Given the description of an element on the screen output the (x, y) to click on. 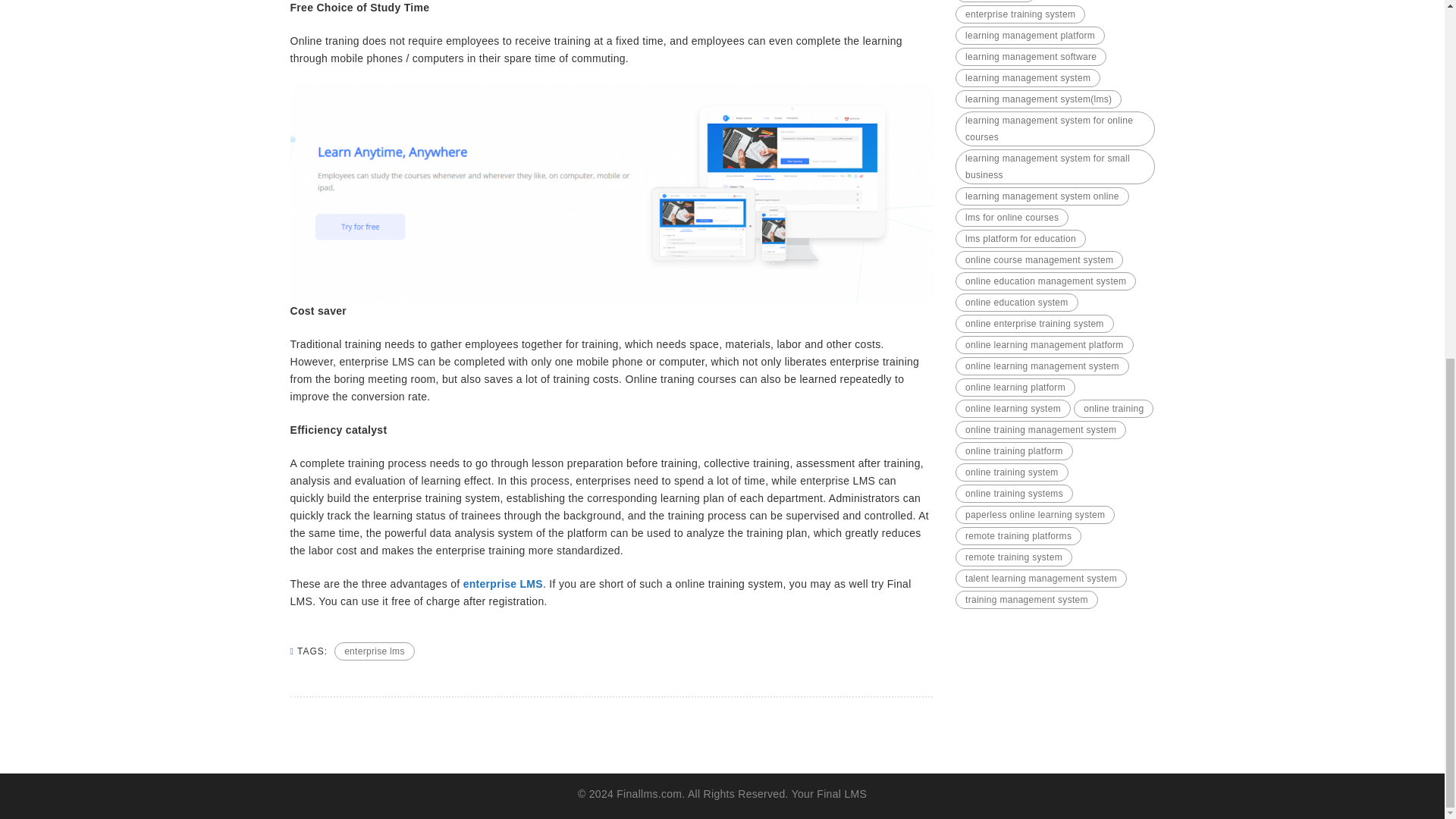
learning management platform (1030, 35)
enterprise lms (995, 1)
learning management system for small business (1054, 166)
enterprise lms (374, 651)
learning management system for online courses (1054, 128)
enterprise training system (1019, 13)
learning management system (1027, 77)
enterprise LMS (503, 583)
learning management software (1030, 56)
